Given the description of an element on the screen output the (x, y) to click on. 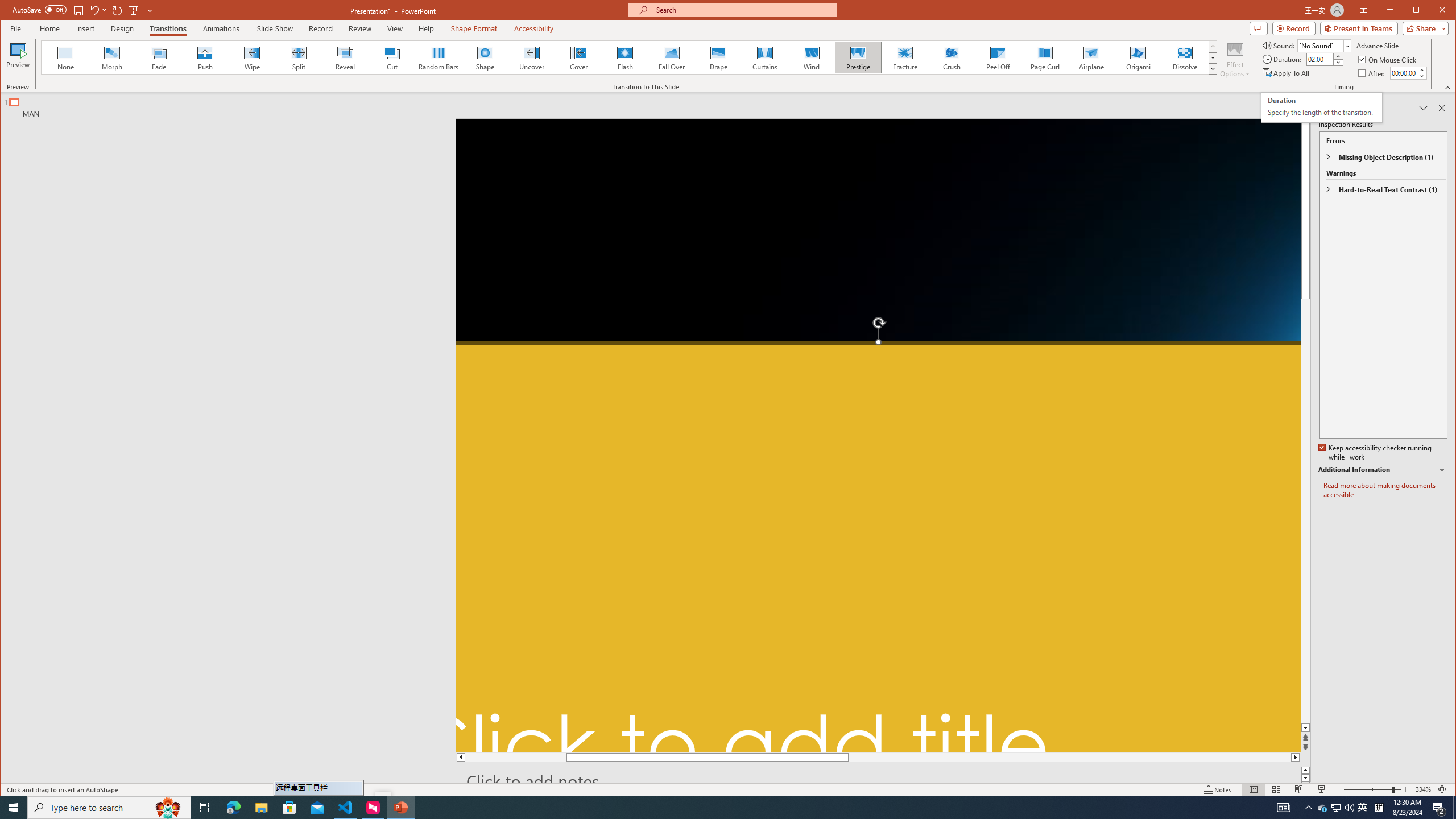
Cover (577, 57)
Prestige (857, 57)
Zoom 334% (1422, 789)
Fracture (904, 57)
